Given the description of an element on the screen output the (x, y) to click on. 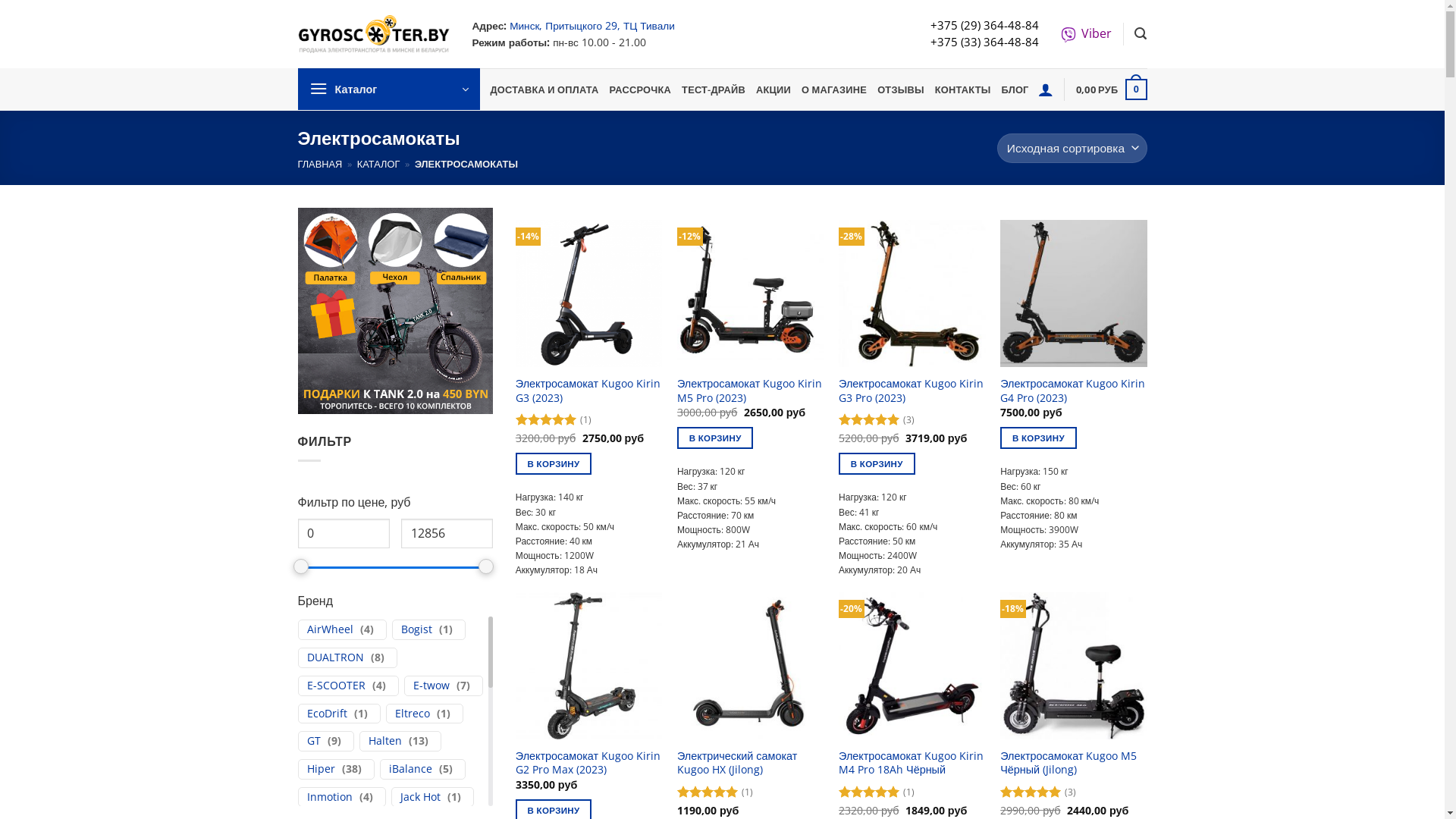
GT Element type: text (313, 741)
AirWheel Element type: text (329, 629)
Jack Hot Element type: text (420, 797)
+375 (33) 364-48-84 Element type: text (984, 41)
E-SCOOTER Element type: text (335, 685)
Halten Element type: text (384, 741)
Hiper Element type: text (320, 769)
Bogist Element type: text (415, 629)
Viber Element type: text (1085, 33)
EcoDrift Element type: text (326, 713)
+375 (29) 364-48-84 Element type: text (984, 24)
Inmotion Element type: text (328, 797)
E-twow Element type: text (430, 685)
Eltreco Element type: text (411, 713)
Skip to content Element type: text (0, 0)
DUALTRON Element type: text (334, 657)
iBalance Element type: text (409, 769)
